Given the description of an element on the screen output the (x, y) to click on. 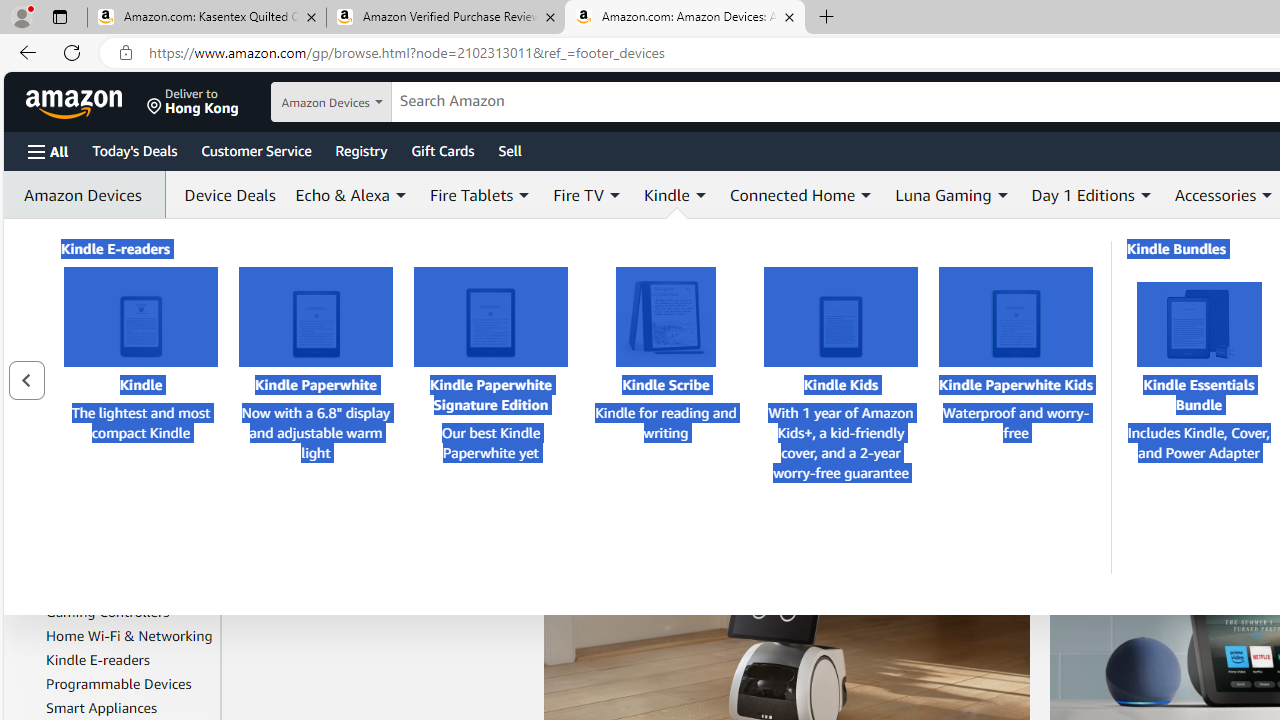
Customer Service (256, 150)
Tap Watch now to see broadcast in immersive view (771, 348)
Pause (615, 467)
Fire Tablets (82, 587)
Coming Soon (64, 320)
Astro Robots (87, 451)
Smart Appliances (129, 707)
Kindle Kids (840, 317)
Programmable Devices (119, 683)
Amazon Devices & Accessories (117, 393)
Kindle Paperwhite Signature Edition (490, 317)
